Given the description of an element on the screen output the (x, y) to click on. 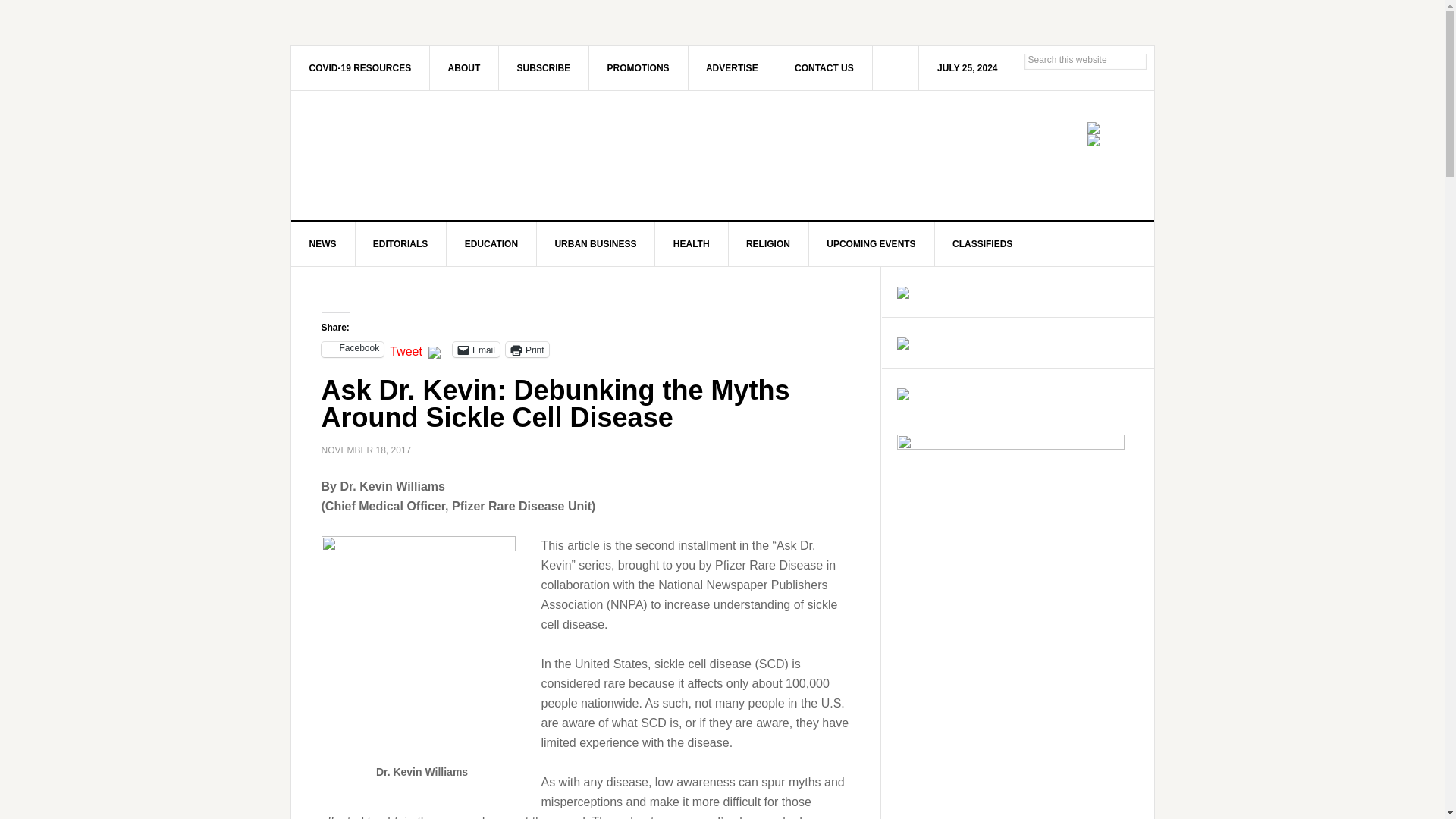
UPCOMING EVENTS (871, 243)
EDUCATION (491, 243)
MILWAUKEE COURIER WEEKLY NEWSPAPER (419, 155)
Click to email a link to a friend (475, 349)
Click to share on Facebook (352, 349)
PROMOTIONS (638, 67)
Search this website (1085, 59)
HEALTH (692, 243)
URBAN BUSINESS (595, 243)
Tweet (406, 348)
Facebook (352, 349)
COVID-19 RESOURCES (360, 67)
Email (475, 349)
CLASSIFIEDS (982, 243)
Click to print (526, 349)
